Given the description of an element on the screen output the (x, y) to click on. 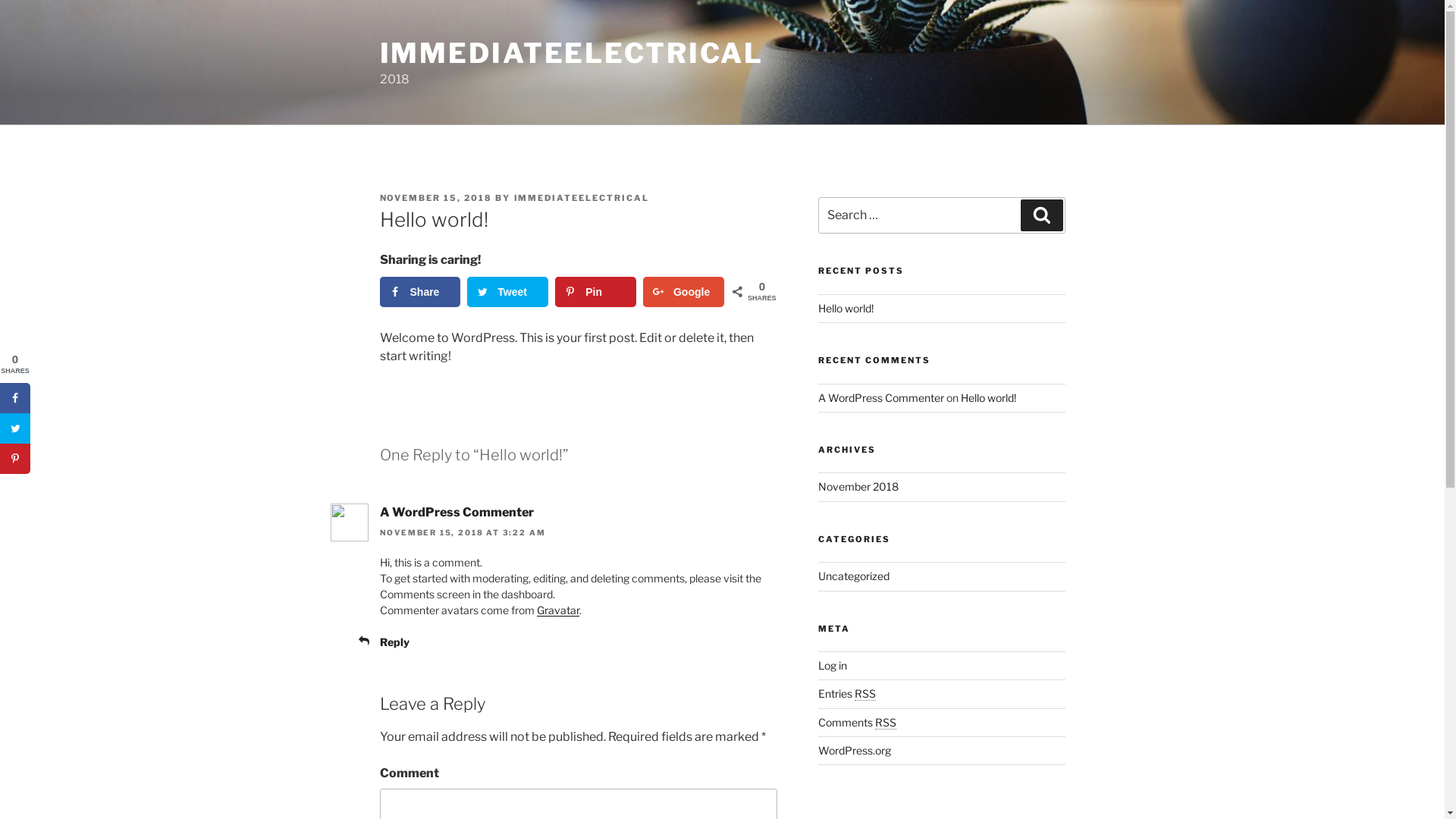
Hello world! Element type: text (845, 307)
Uncategorized Element type: text (853, 575)
Search Element type: text (1041, 215)
Entries RSS Element type: text (846, 693)
Share Element type: text (419, 291)
NOVEMBER 15, 2018 Element type: text (435, 197)
November 2018 Element type: text (858, 486)
NOVEMBER 15, 2018 AT 3:22 AM Element type: text (462, 531)
IMMEDIATEELECTRICAL Element type: text (581, 197)
Tweet Element type: text (507, 291)
Hello world! Element type: text (988, 397)
Comments RSS Element type: text (857, 721)
Gravatar Element type: text (557, 609)
Pin Element type: text (595, 291)
Log in Element type: text (832, 664)
Skip to content Element type: text (0, 0)
Google+ Element type: text (683, 291)
A WordPress Commenter Element type: text (881, 397)
IMMEDIATEELECTRICAL Element type: text (571, 52)
WordPress.org Element type: text (854, 749)
A WordPress Commenter Element type: text (456, 512)
Reply Element type: text (393, 641)
